Given the description of an element on the screen output the (x, y) to click on. 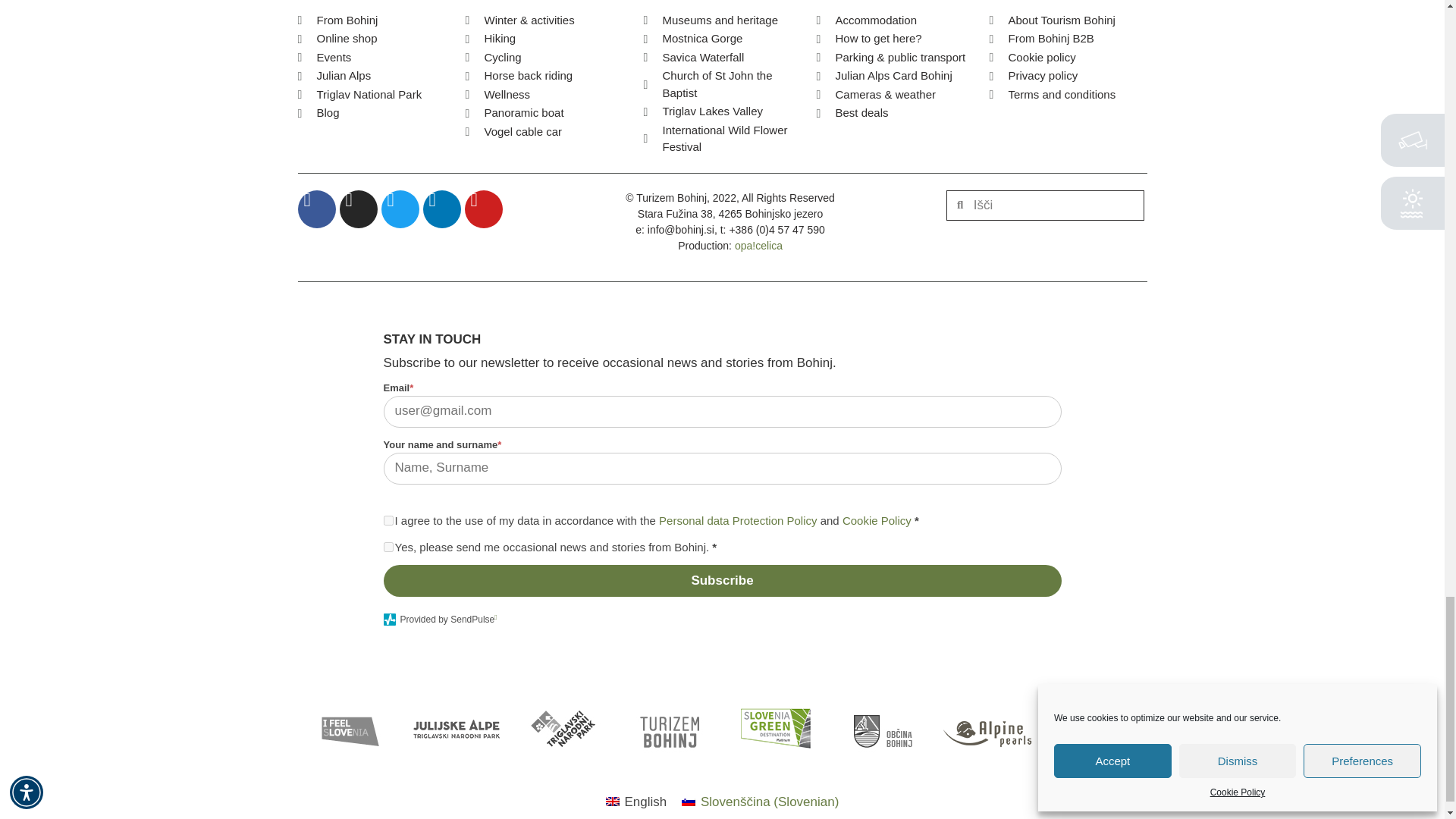
Search (1052, 205)
yes (388, 520)
yes (388, 547)
